Given the description of an element on the screen output the (x, y) to click on. 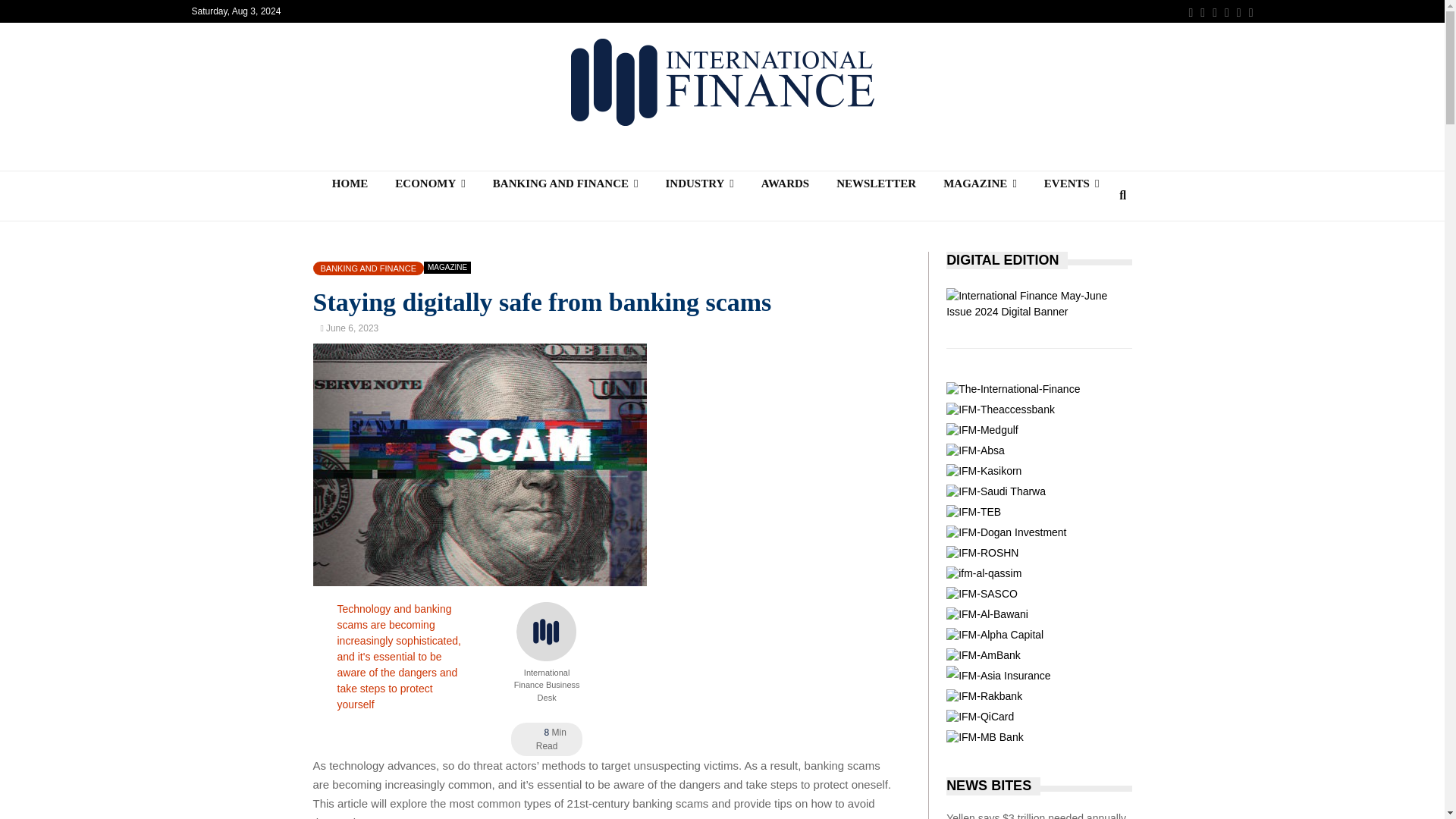
ECONOMY (430, 183)
INDUSTRY (698, 183)
MAGAZINE (980, 183)
AWARDS (785, 183)
NEWSLETTER (876, 183)
BANKING AND FINANCE (565, 183)
HOME (349, 183)
